Given the description of an element on the screen output the (x, y) to click on. 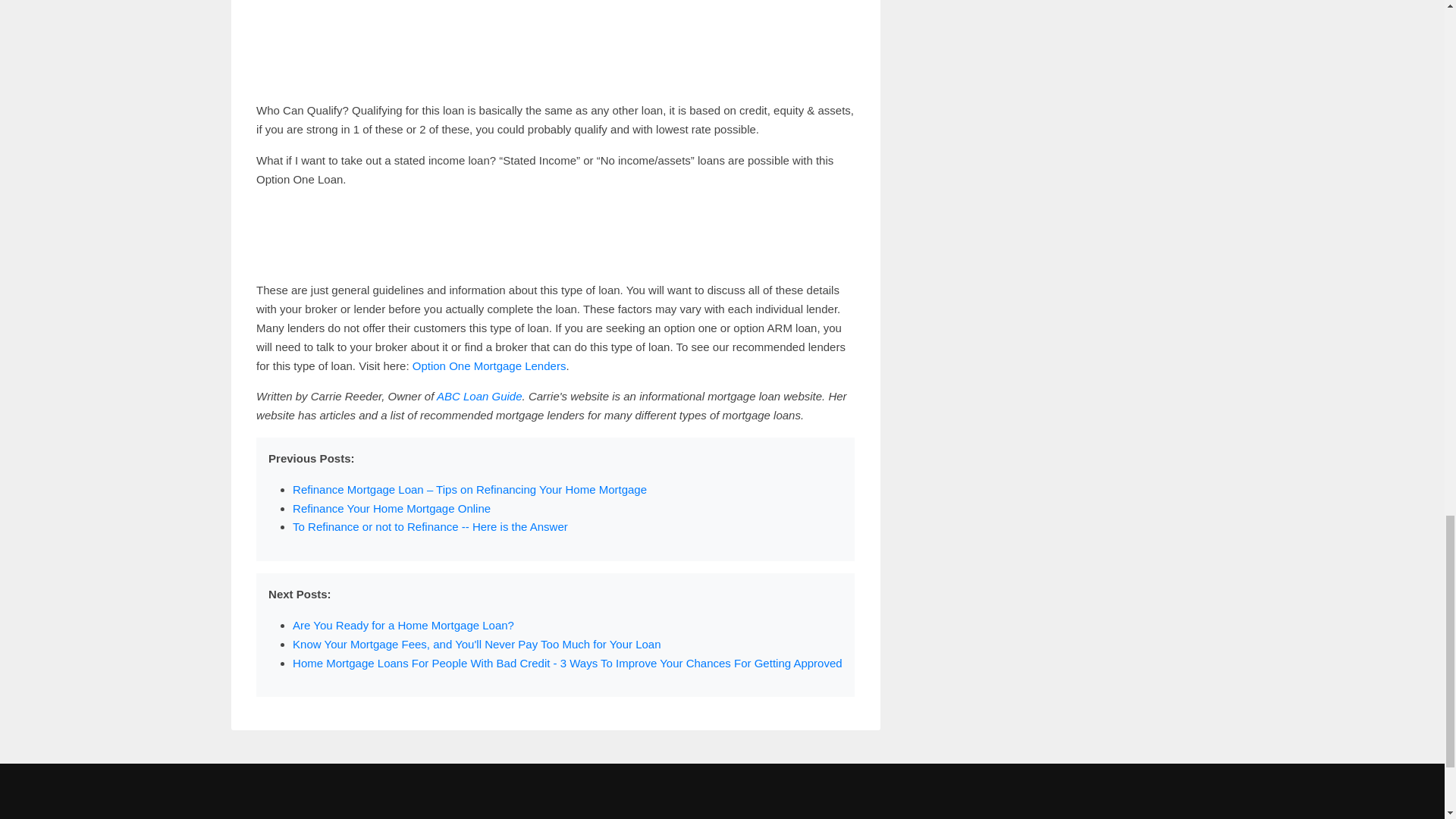
Advertisement (555, 234)
Refinance Your Home Mortgage Online (391, 508)
To Refinance or not to Refinance -- Here is the Answer (429, 526)
Option One Mortgage Lenders (489, 365)
Are You Ready for a Home Mortgage Loan? (402, 625)
Advertisement (555, 44)
ABC Loan Guide (479, 395)
